Given the description of an element on the screen output the (x, y) to click on. 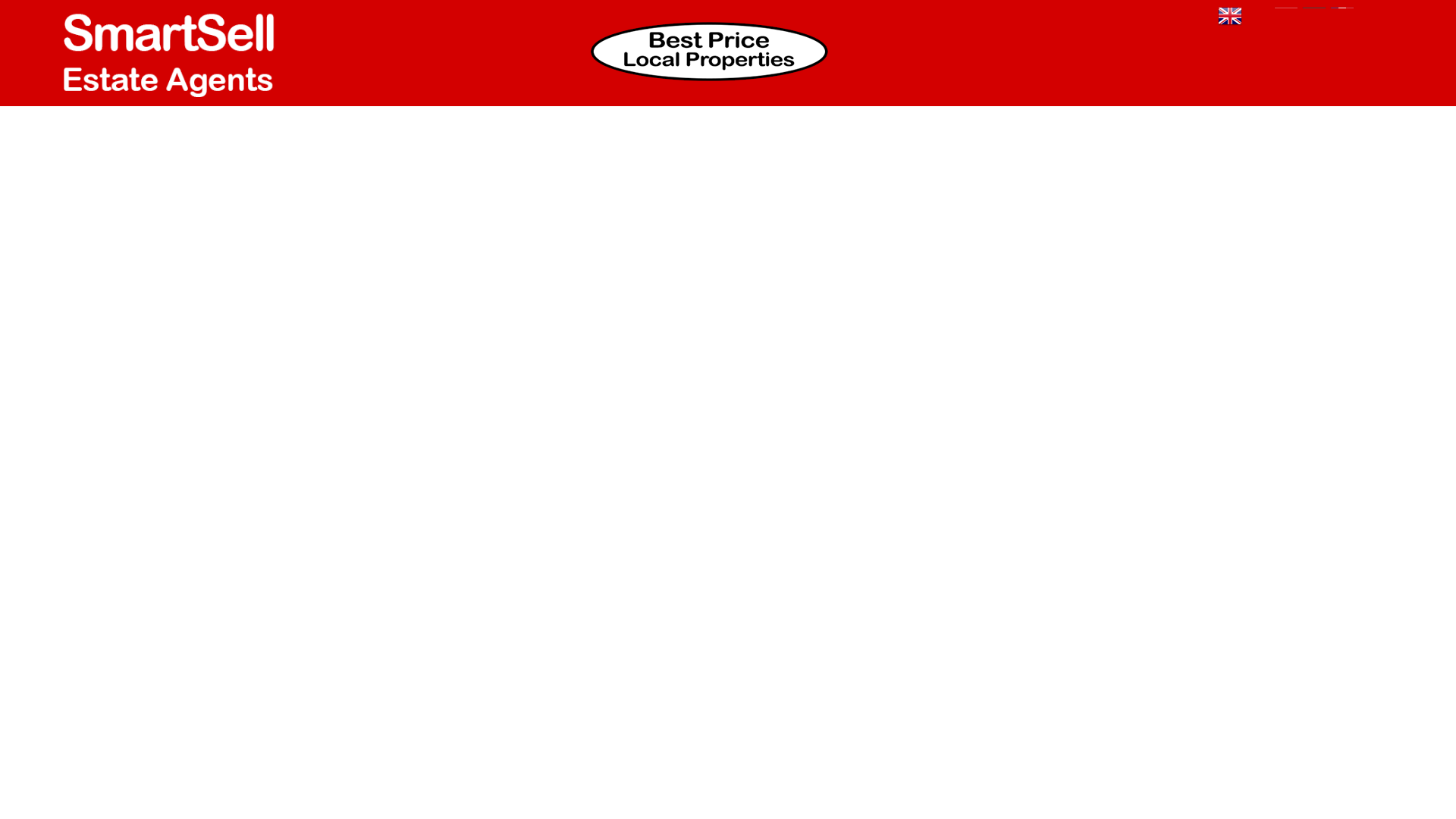
Smartsell - Best Price Local Properties (708, 51)
Spanish (1257, 15)
Norwegian (1398, 15)
French (1342, 15)
Dutch (1286, 15)
English (1229, 15)
Swedish (1369, 15)
German (1313, 15)
